Given the description of an element on the screen output the (x, y) to click on. 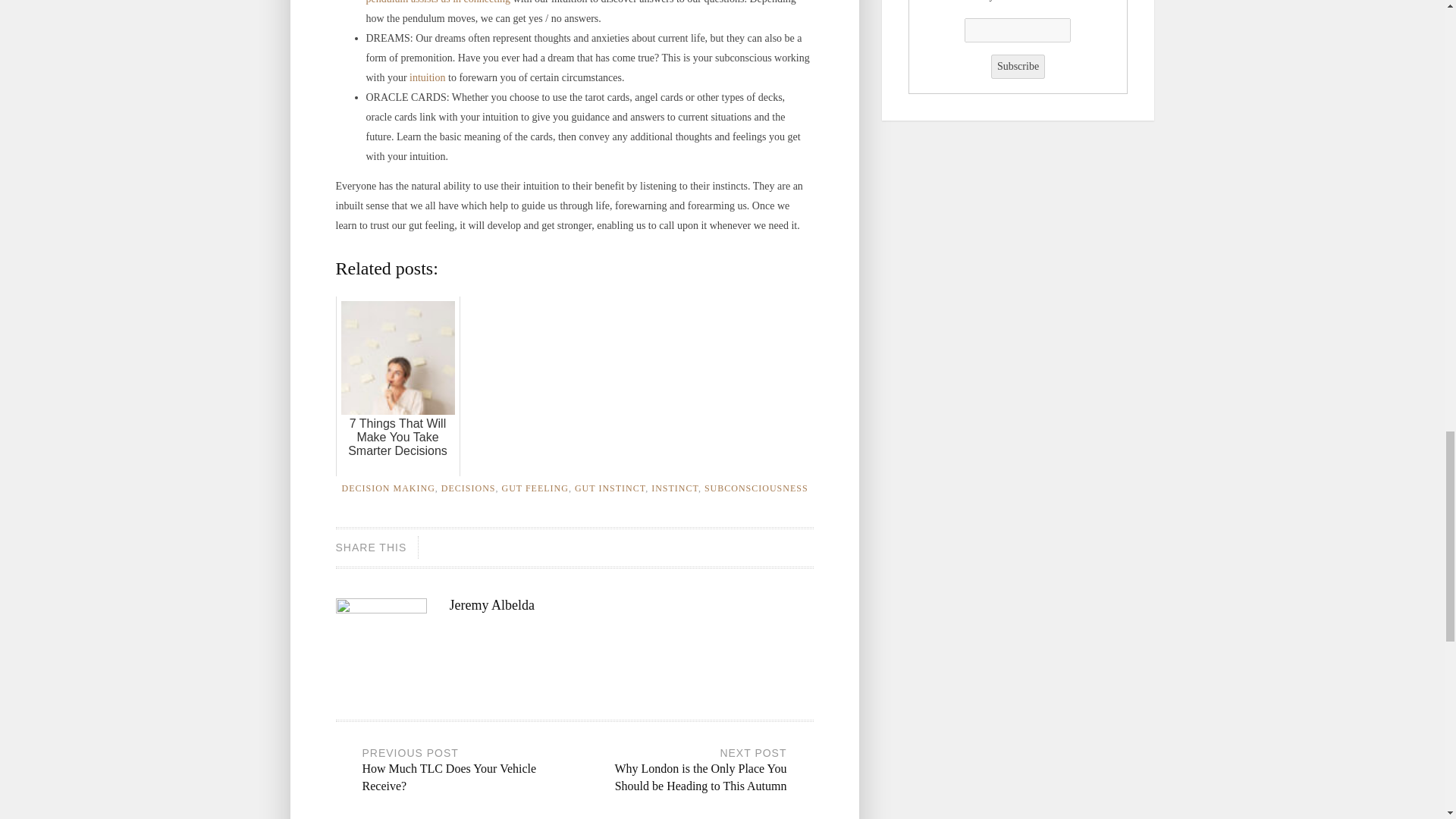
Subscribe (1018, 66)
